Given the description of an element on the screen output the (x, y) to click on. 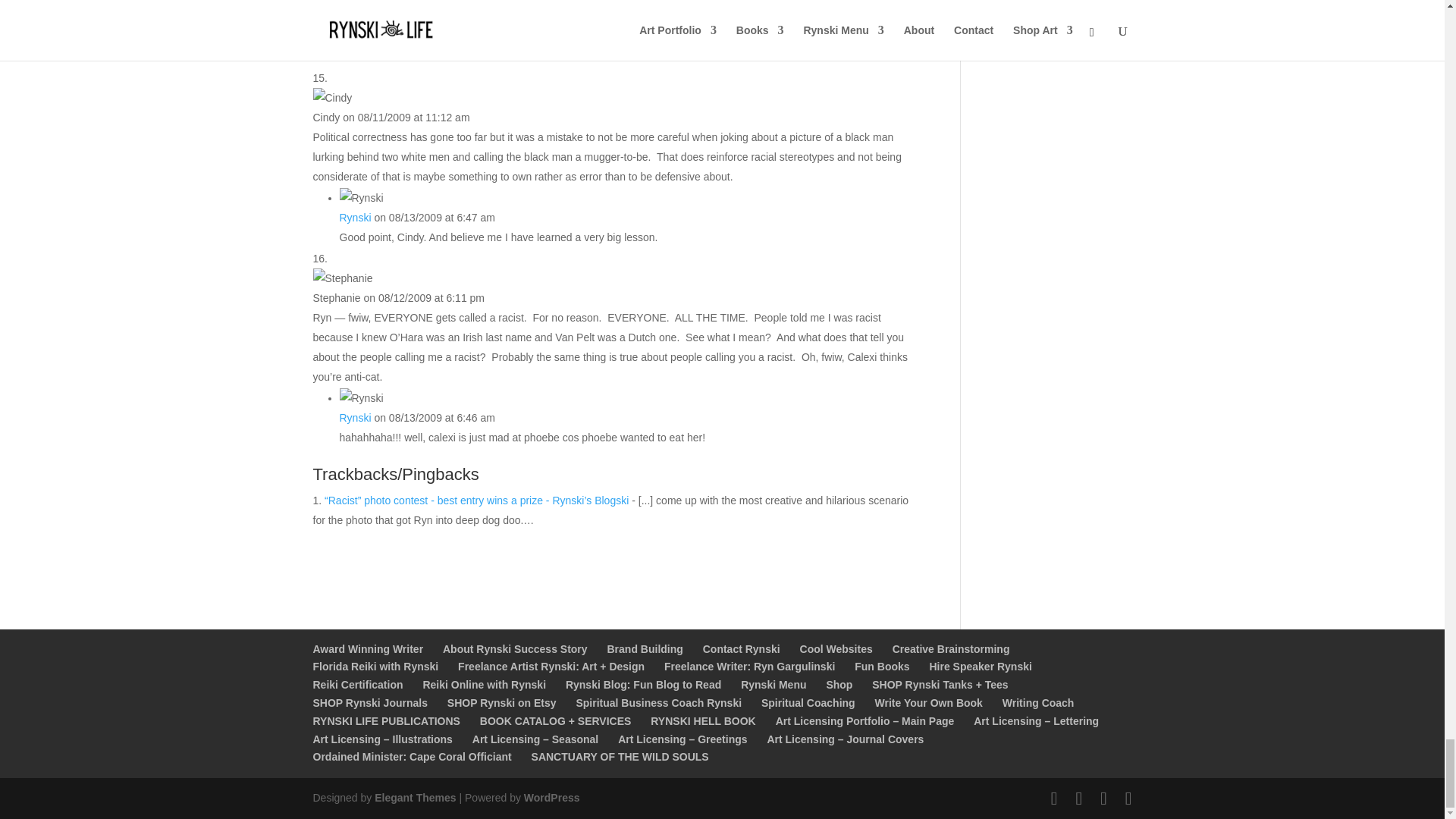
Premium WordPress Themes (414, 797)
